Given the description of an element on the screen output the (x, y) to click on. 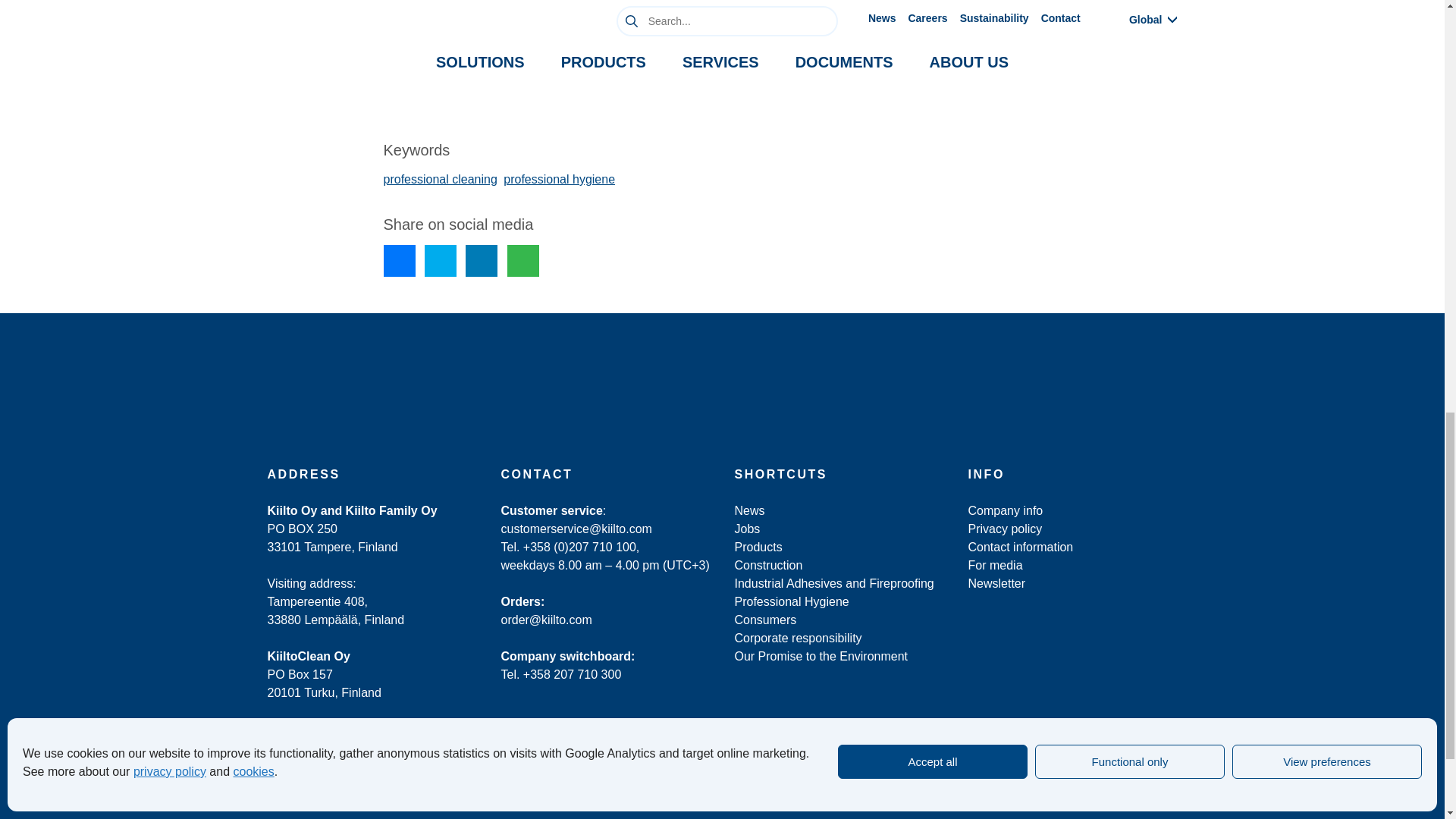
Twitter (1030, 681)
Share on LinkedIn (481, 260)
YouTube (1085, 681)
LinkedIn (1058, 681)
Share on Facebook (399, 260)
Share on Twitter (441, 260)
Instagram (1002, 681)
Share on WhatsApp (522, 260)
Facebook (975, 681)
